Given the description of an element on the screen output the (x, y) to click on. 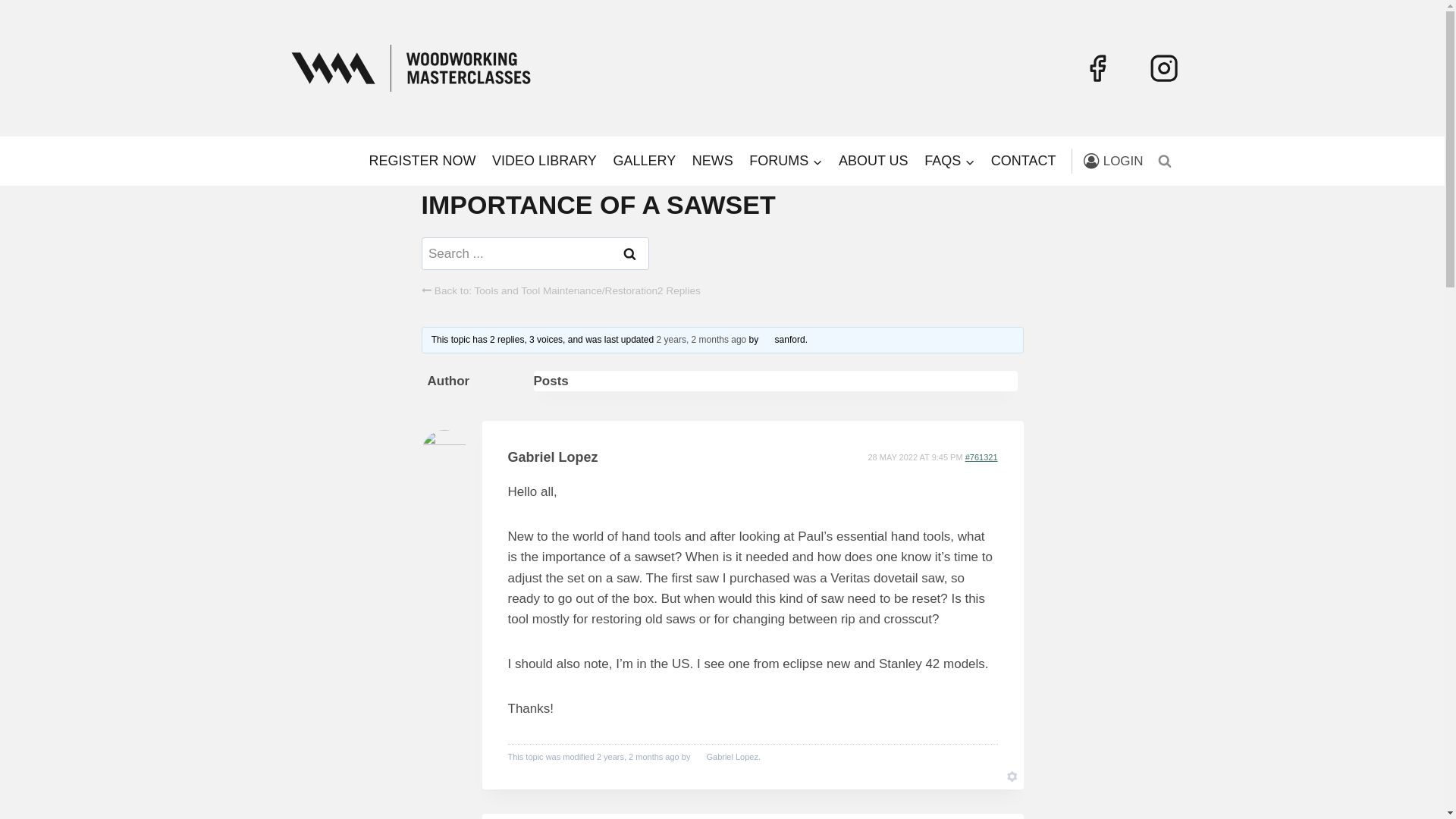
2 years, 2 months ago (701, 339)
FAQS (948, 160)
View sanford's profile (783, 339)
Gabriel Lopez (725, 756)
NEWS (712, 160)
FORUMS (786, 160)
Reply To: Importance of a sawset (701, 339)
Search (630, 253)
GALLERY (644, 160)
REGISTER NOW (422, 160)
